Given the description of an element on the screen output the (x, y) to click on. 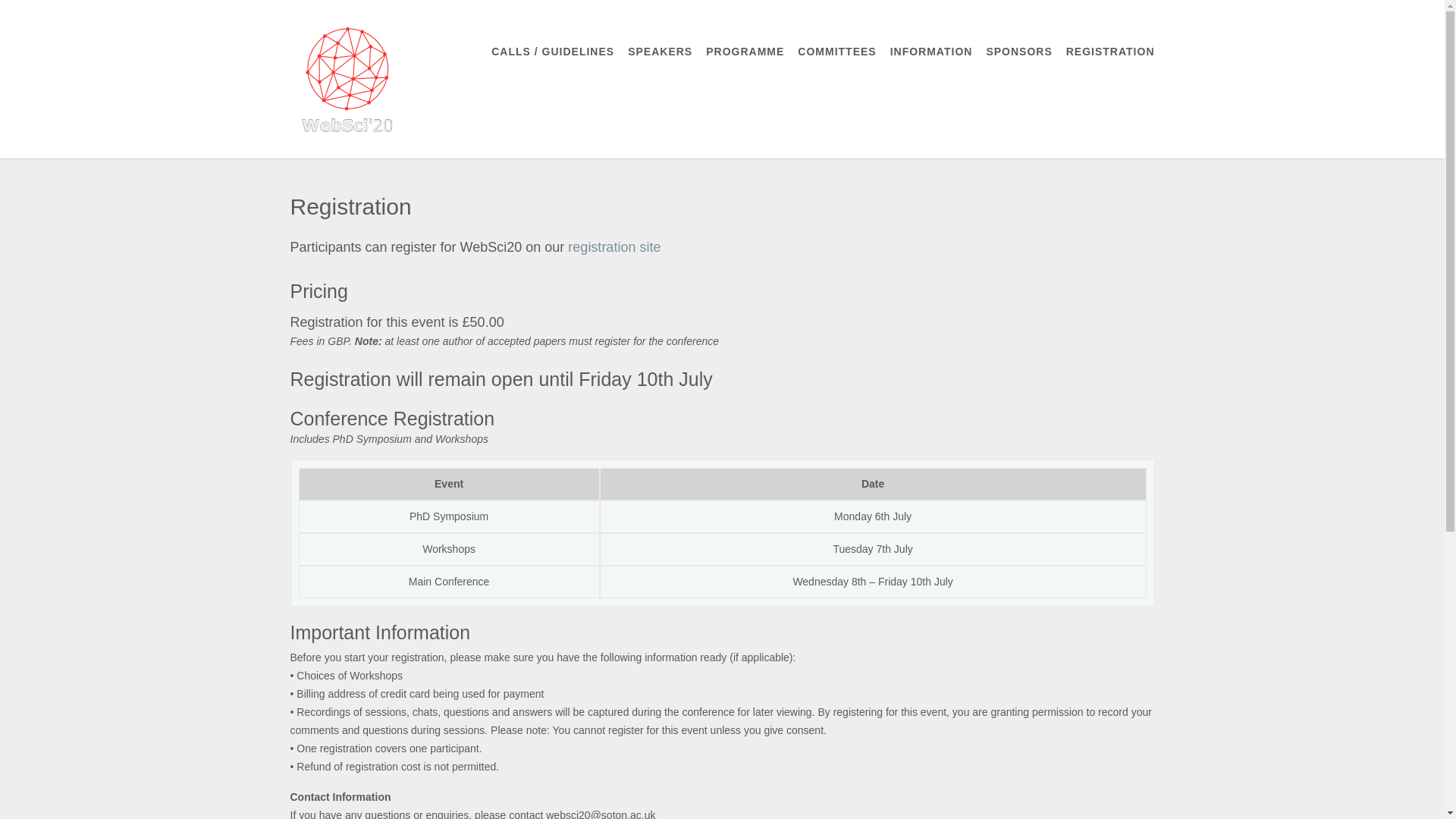
REGISTRATION (1109, 51)
SPONSORS (1018, 51)
SPEAKERS (660, 51)
INFORMATION (930, 51)
COMMITTEES (836, 51)
registration site (614, 246)
PROGRAMME (745, 51)
